Given the description of an element on the screen output the (x, y) to click on. 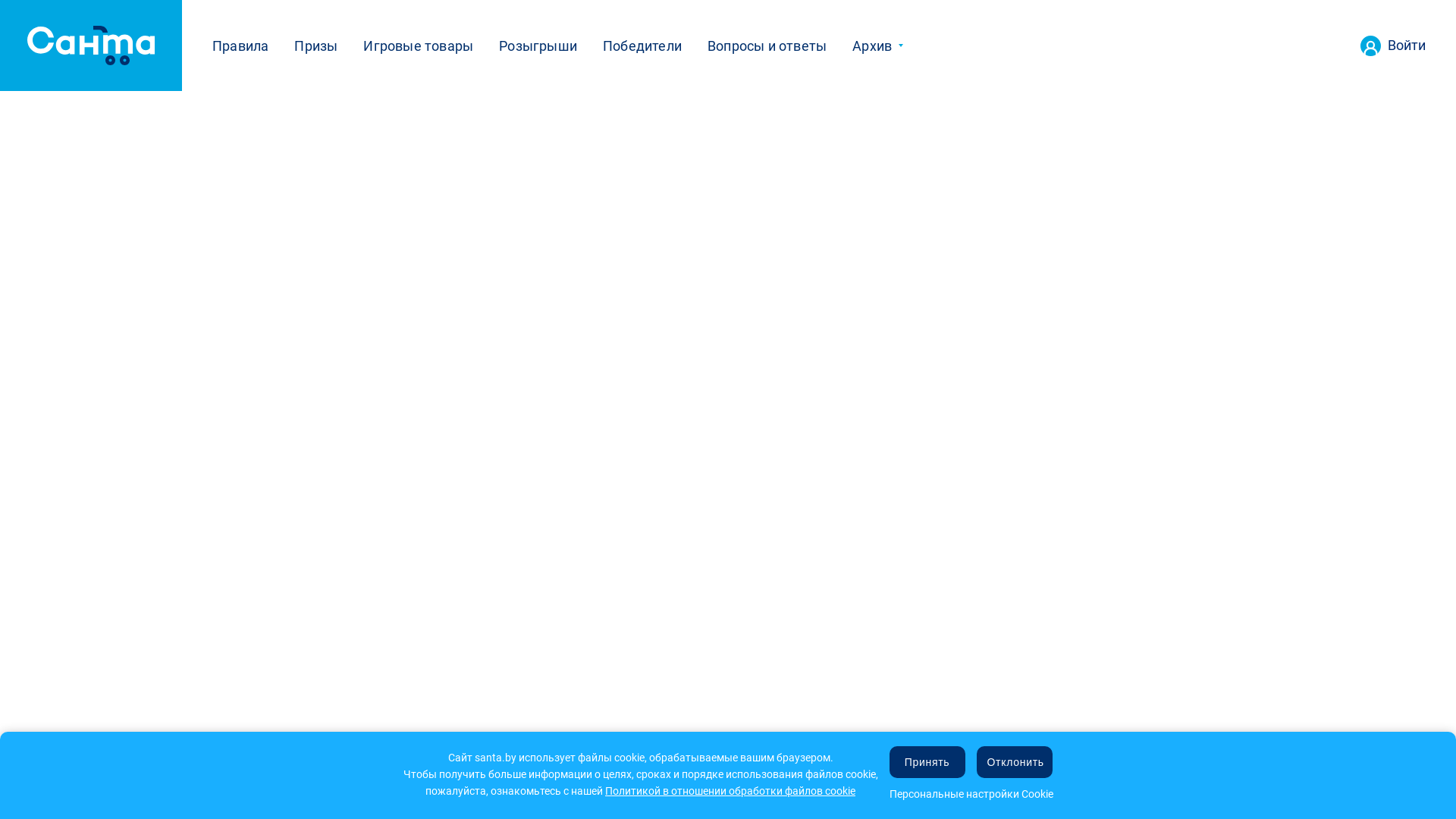
y Element type: text (703, 785)
